Given the description of an element on the screen output the (x, y) to click on. 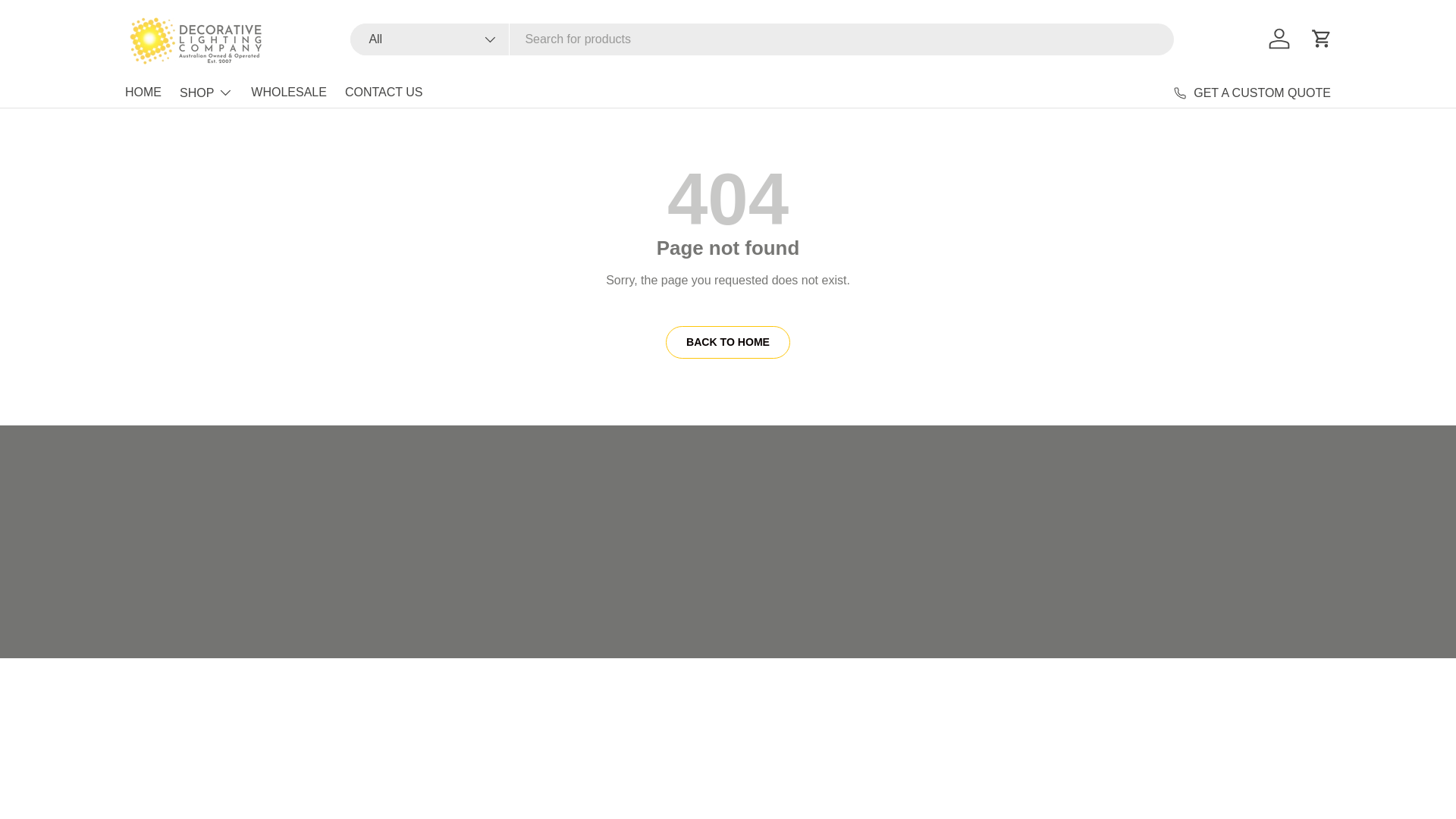
CONTACT US (384, 91)
BACK TO HOME (727, 341)
HOME (143, 91)
GET A CUSTOM QUOTE (1251, 92)
WHOLESALE (288, 91)
All (429, 38)
Log in (1278, 38)
SHOP (205, 91)
Cart (1321, 38)
SKIP TO CONTENT (68, 21)
